Given the description of an element on the screen output the (x, y) to click on. 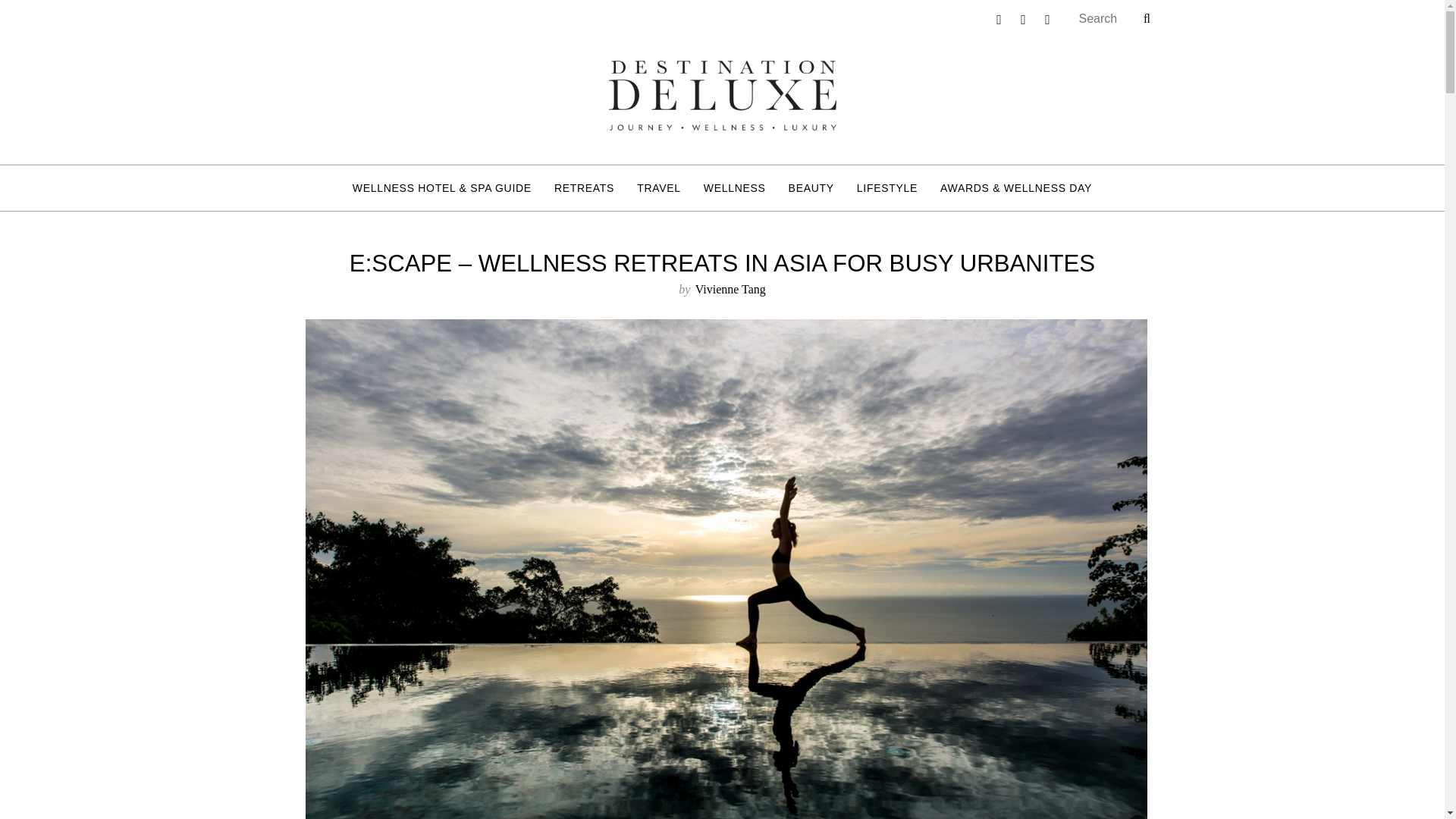
WELLNESS (735, 187)
LIFESTYLE (886, 187)
BEAUTY (811, 187)
TRAVEL (659, 187)
